Given the description of an element on the screen output the (x, y) to click on. 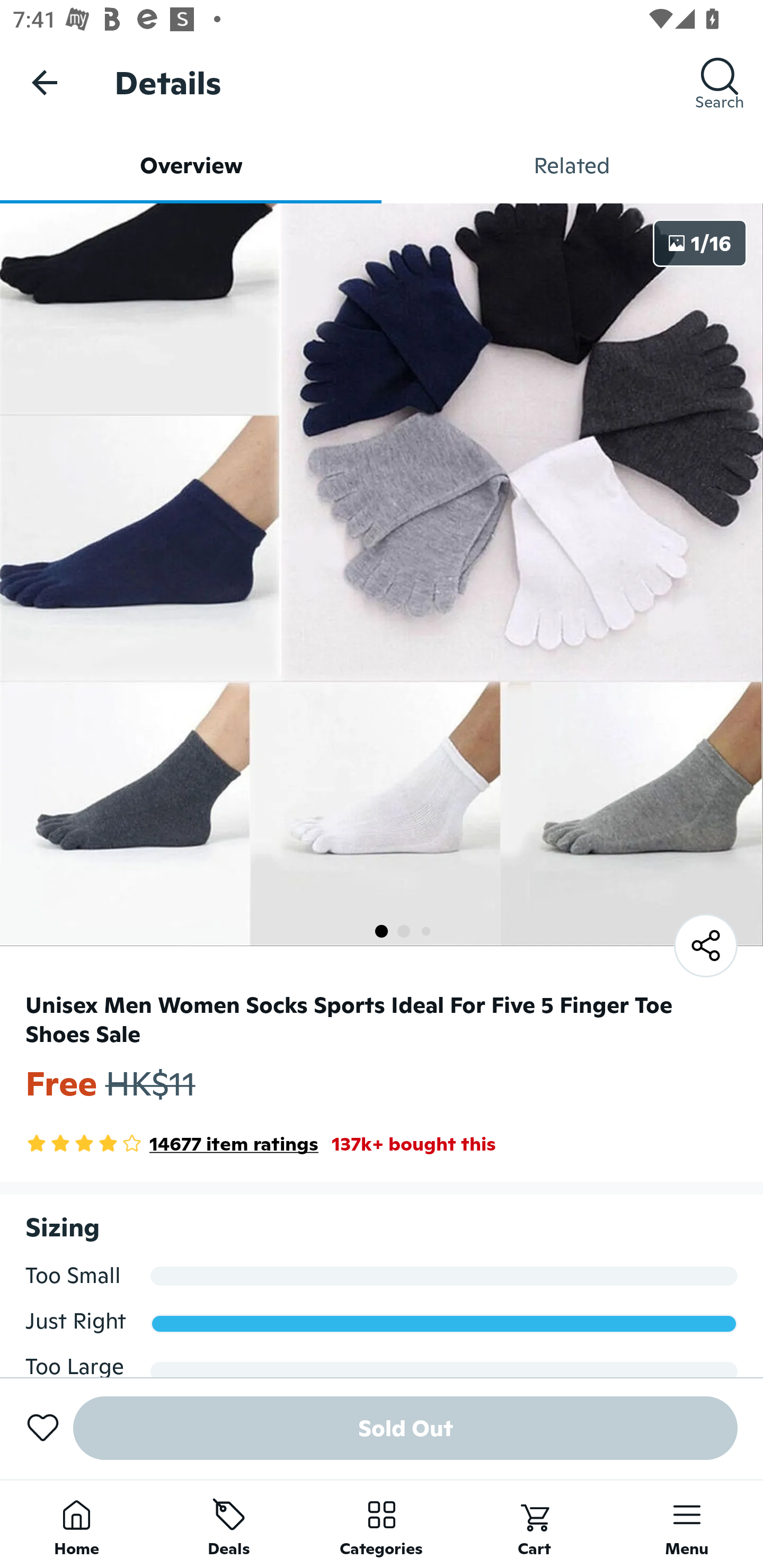
Navigate up (44, 82)
Search (719, 82)
Related (572, 165)
1/16 (700, 242)
4.2 Star Rating 14677 item ratings (171, 1143)
Sold Out (405, 1428)
Home (76, 1523)
Deals (228, 1523)
Categories (381, 1523)
Cart (533, 1523)
Menu (686, 1523)
